Given the description of an element on the screen output the (x, y) to click on. 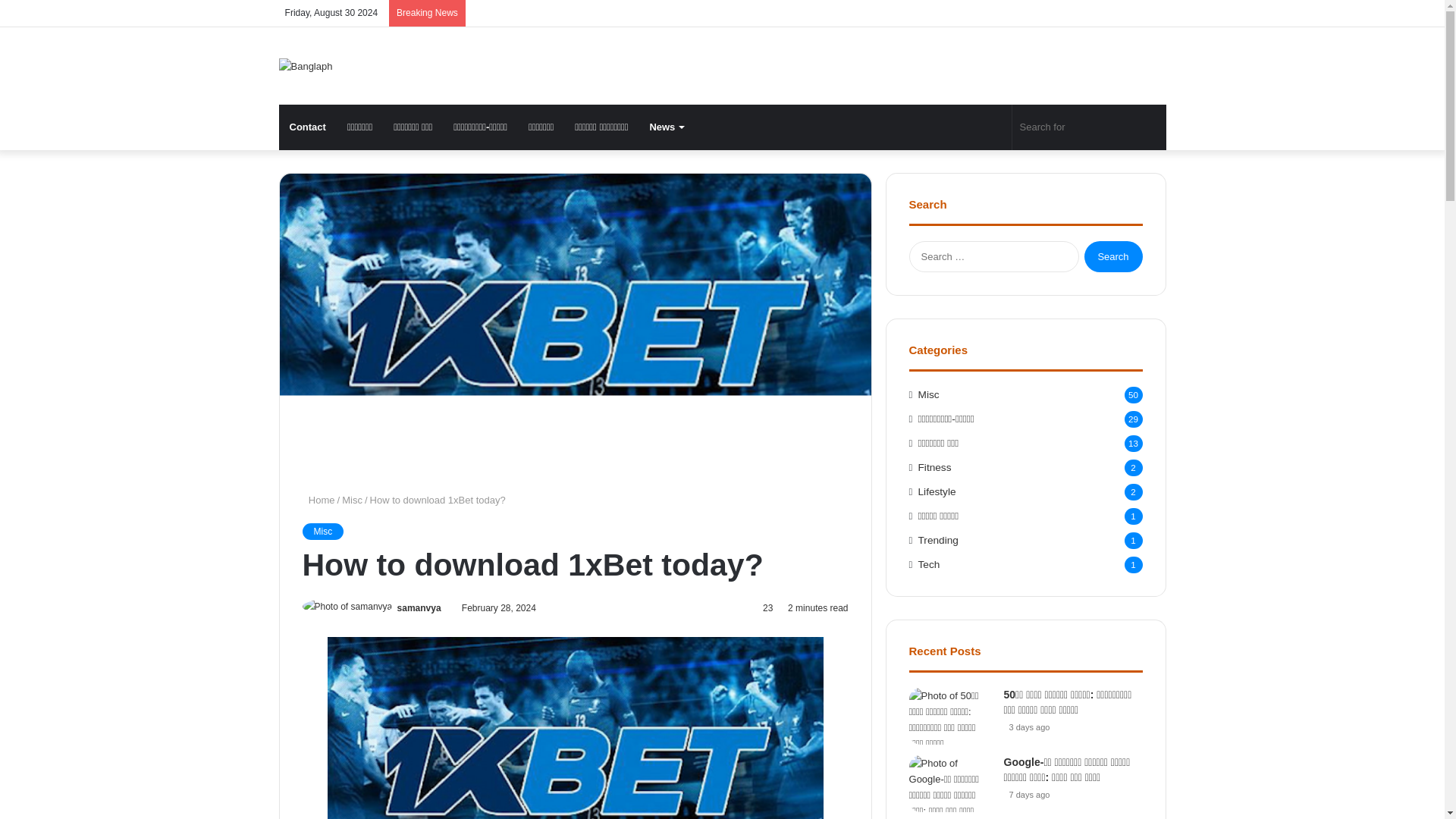
Banglaph (306, 65)
Contact (307, 126)
Search for (1088, 126)
Search (1113, 255)
samanvya (419, 607)
Search (1113, 255)
samanvya (419, 607)
Misc (322, 531)
Home (317, 500)
News (666, 126)
